Given the description of an element on the screen output the (x, y) to click on. 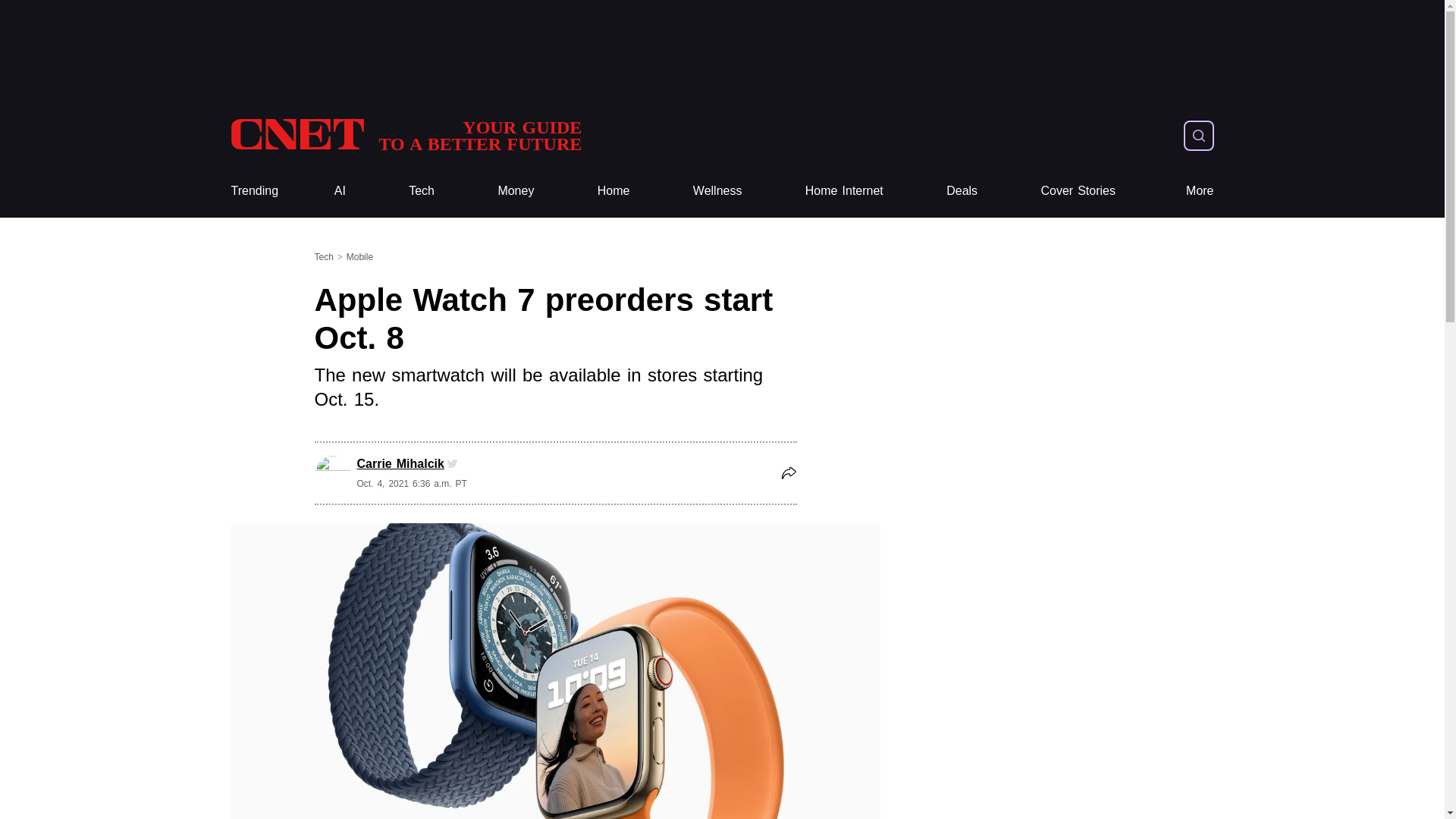
Home (613, 190)
CNET (405, 135)
Home Internet (844, 190)
Home Internet (844, 190)
More (1199, 190)
Wellness (717, 190)
Tech (421, 190)
Cover Stories (1078, 190)
Money (515, 190)
Home (613, 190)
Money (515, 190)
Wellness (717, 190)
Trending (254, 190)
Trending (405, 135)
